Given the description of an element on the screen output the (x, y) to click on. 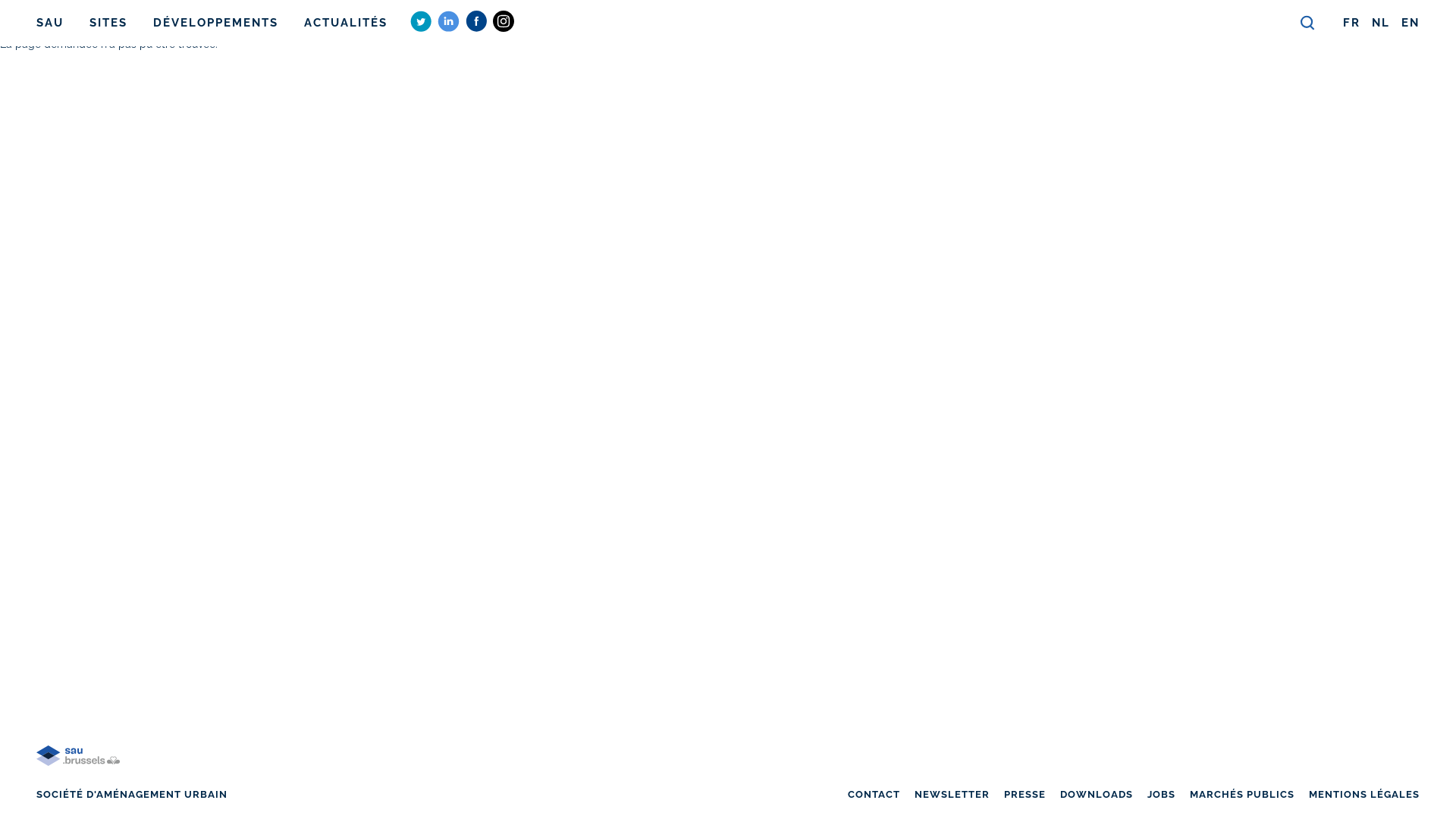
PRESSE Element type: text (1024, 794)
FR Element type: text (1351, 22)
SAU Element type: text (49, 22)
JOBS Element type: text (1161, 794)
Accueil Element type: hover (77, 774)
EN Element type: text (1410, 22)
Search Element type: text (1307, 23)
NL Element type: text (1380, 22)
SITES Element type: text (108, 22)
CONTACT Element type: text (873, 794)
DOWNLOADS Element type: text (1096, 794)
NEWSLETTER Element type: text (951, 794)
